Given the description of an element on the screen output the (x, y) to click on. 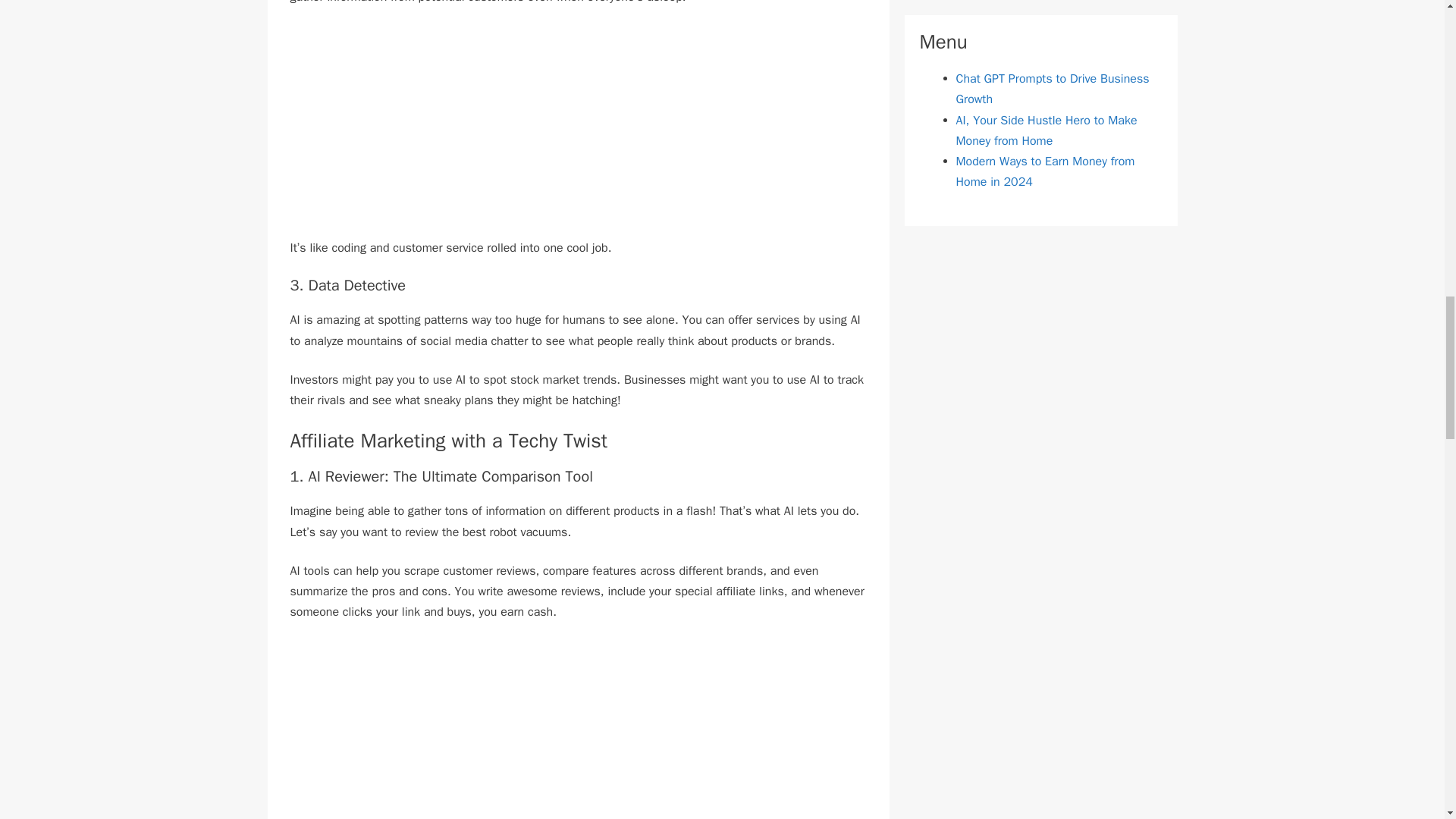
Advertisement (577, 729)
Advertisement (577, 131)
